Given the description of an element on the screen output the (x, y) to click on. 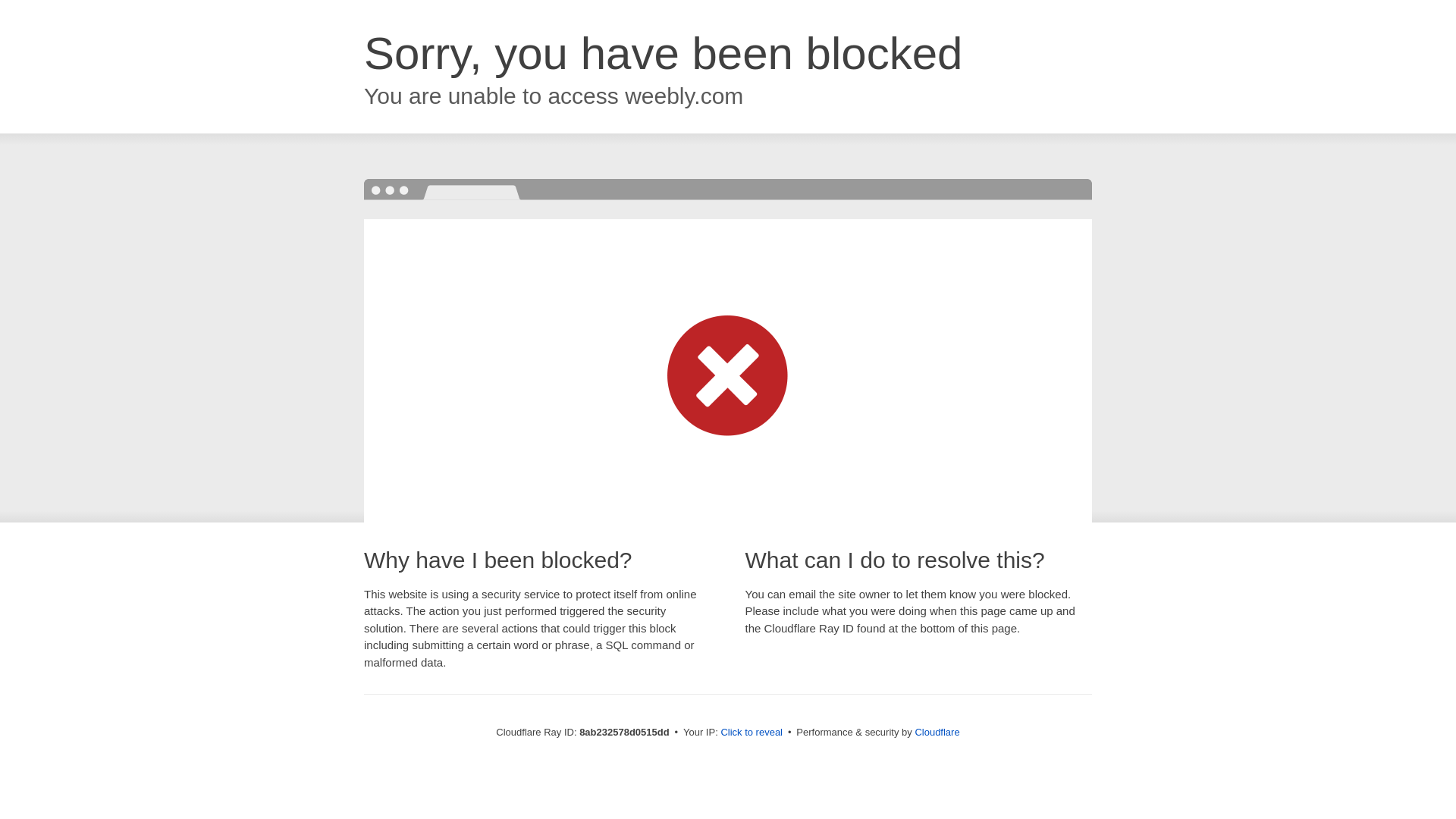
Click to reveal (751, 732)
Cloudflare (936, 731)
